Given the description of an element on the screen output the (x, y) to click on. 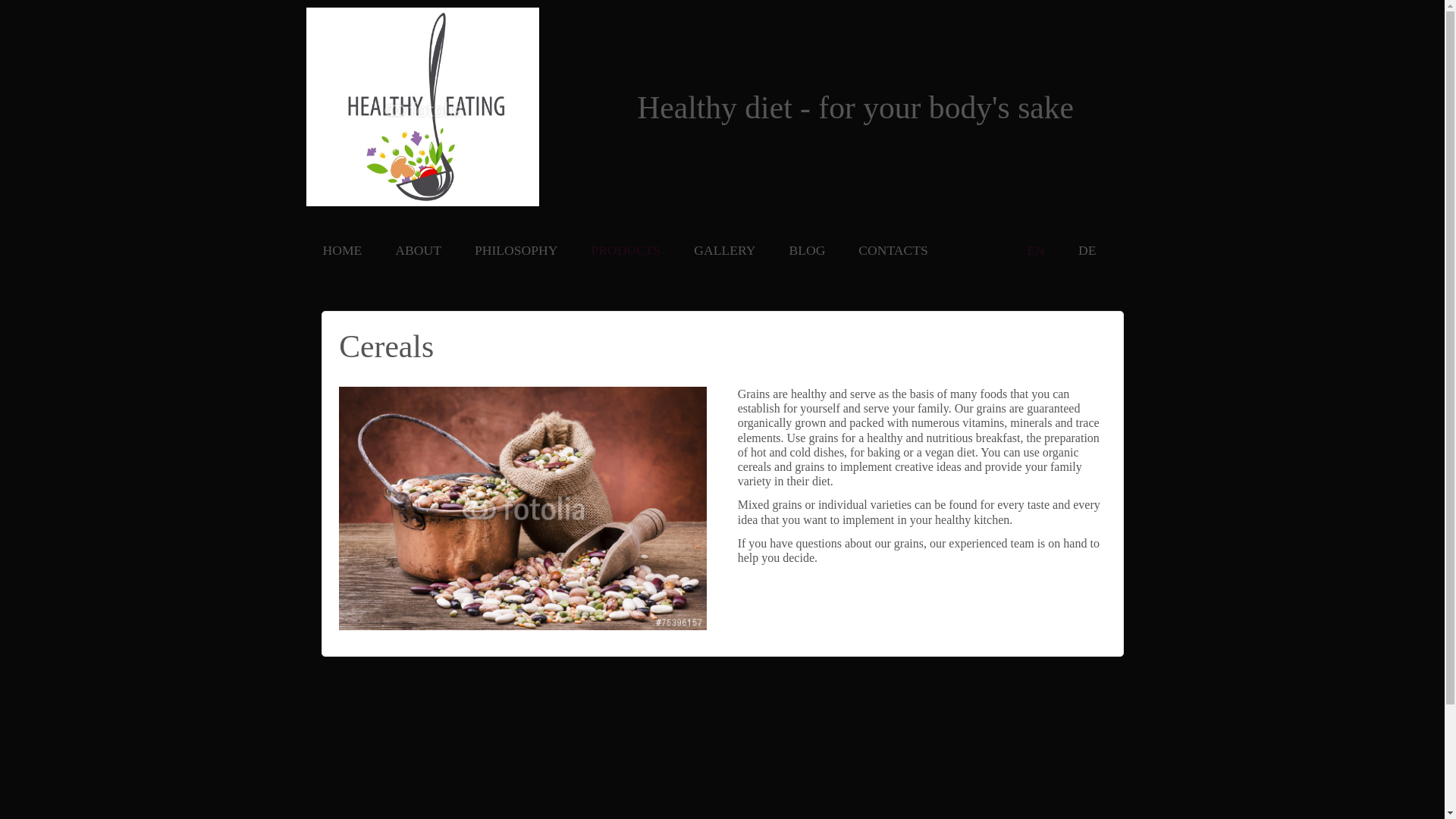
CONTACTS (892, 250)
GALLERY (724, 250)
PHILOSOPHY (516, 250)
HOME (342, 250)
EN (1035, 250)
BLOG (806, 250)
DE (1086, 250)
PRODUCTS (624, 250)
ABOUT (417, 250)
